Given the description of an element on the screen output the (x, y) to click on. 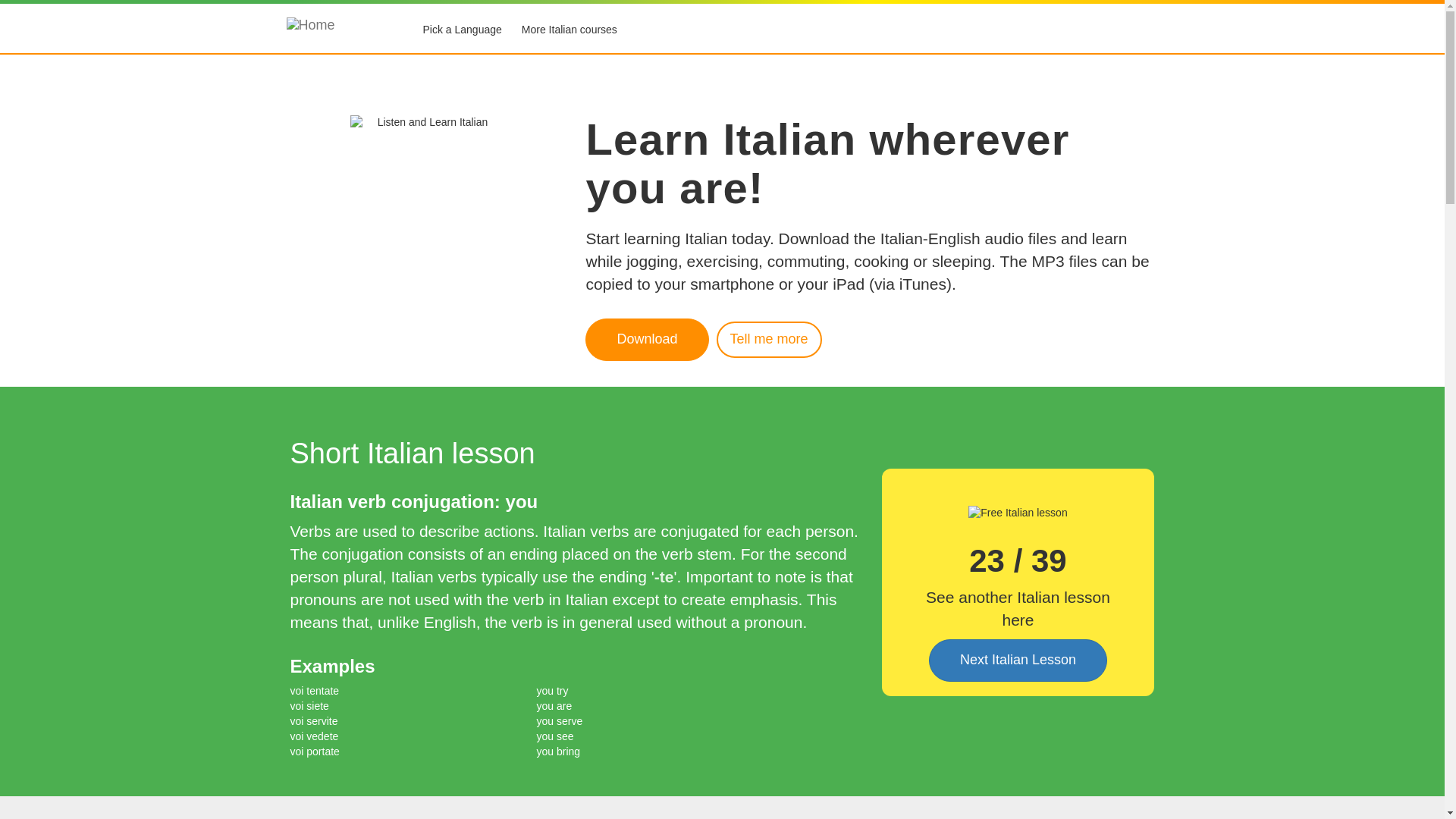
More Italian courses (569, 30)
Tell me more (769, 339)
Italian MP3 download - Listen and Learn Italian (769, 339)
Italian courses (569, 30)
Home (336, 30)
Free Italian lesson (1017, 660)
Free Italian lesson (1017, 513)
Italian MP3 download - Listen and Learn Italian (646, 339)
Pick a Language (461, 30)
Download (646, 339)
Next Italian Lesson (1017, 660)
Listen and Learn Italian (426, 234)
Home (336, 28)
